Given the description of an element on the screen output the (x, y) to click on. 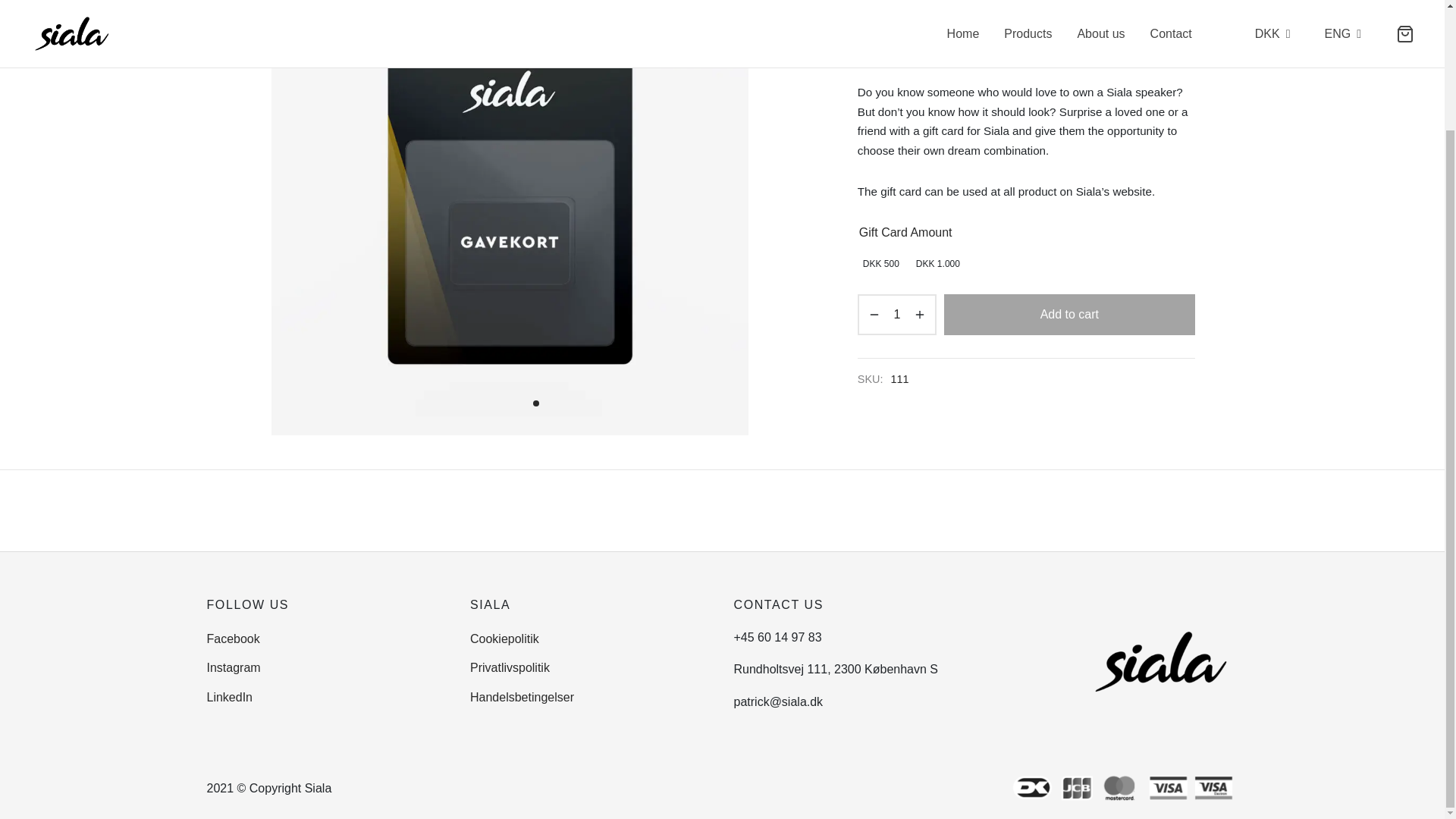
1 (896, 314)
1 (535, 403)
Add to cart (1069, 314)
Cookiepolitik (504, 638)
Instagram (233, 667)
Handelsbetingelser (521, 696)
Qty (896, 314)
